Given the description of an element on the screen output the (x, y) to click on. 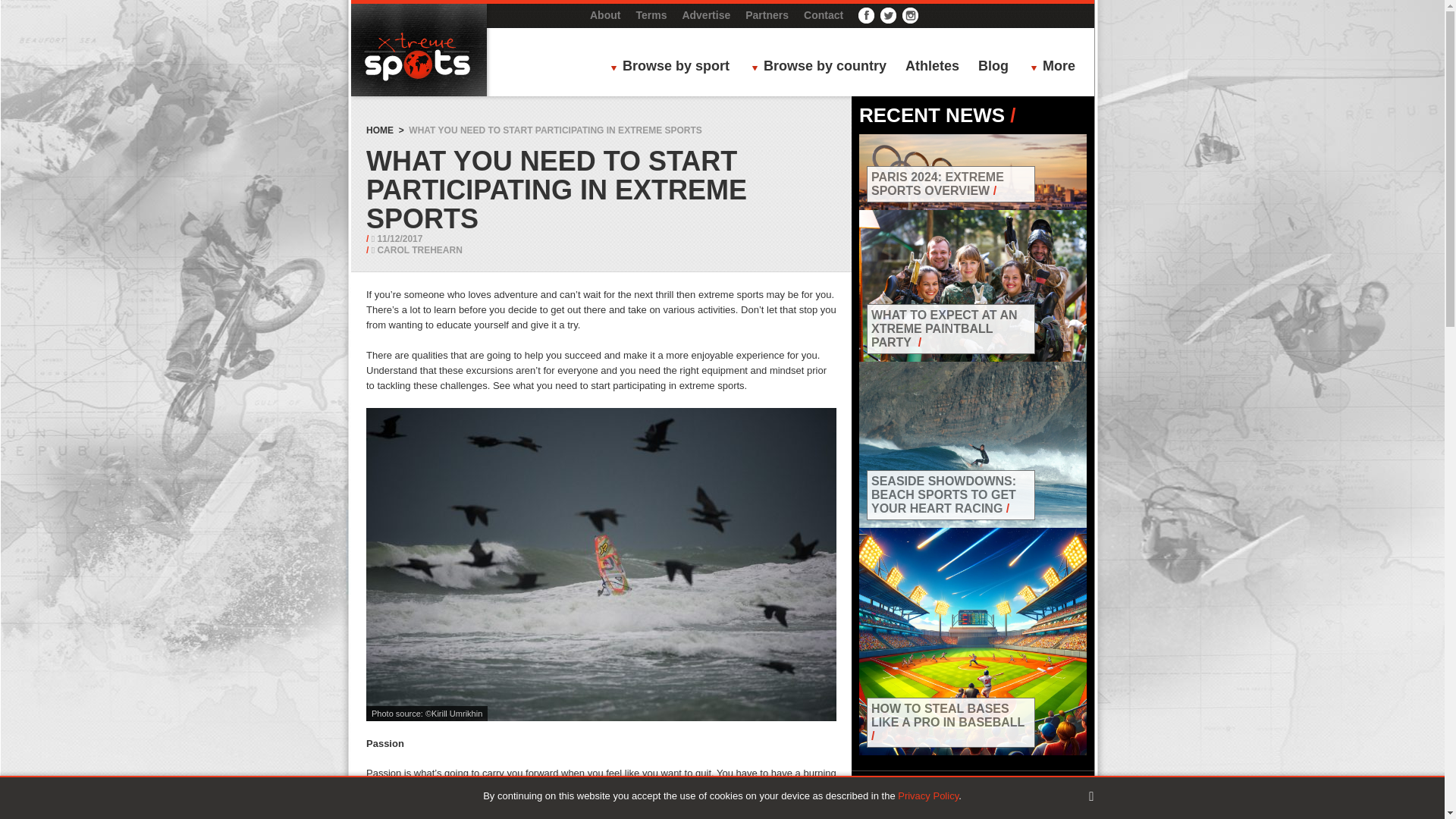
About (604, 15)
Browse by country (823, 67)
Athletes (932, 67)
HOME (379, 130)
PARIS 2024: EXTREME SPORTS OVERVIEW (937, 183)
More (1056, 67)
HOW TO STEAL BASES LIKE A PRO IN BASEBALL (947, 714)
SEASIDE SHOWDOWNS: BEACH SPORTS TO GET YOUR HEART RACING (943, 495)
Terms (650, 15)
